Given the description of an element on the screen output the (x, y) to click on. 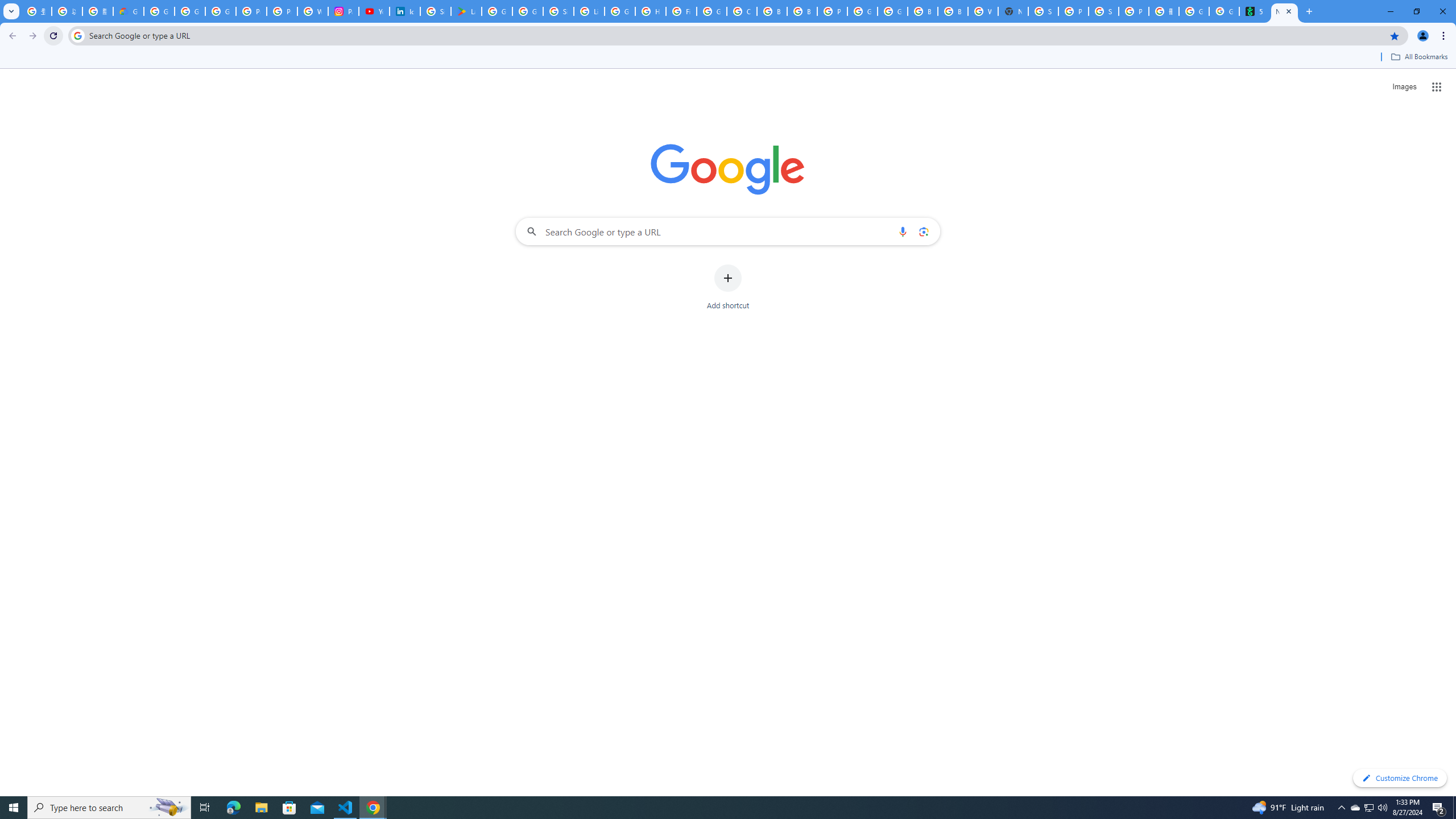
Bookmarks (728, 58)
Last Shelter: Survival - Apps on Google Play (465, 11)
Search icon (77, 35)
Browse Chrome as a guest - Computer - Google Chrome Help (801, 11)
Search Google or type a URL (727, 230)
Browse Chrome as a guest - Computer - Google Chrome Help (922, 11)
Google Cloud Platform (862, 11)
